Given the description of an element on the screen output the (x, y) to click on. 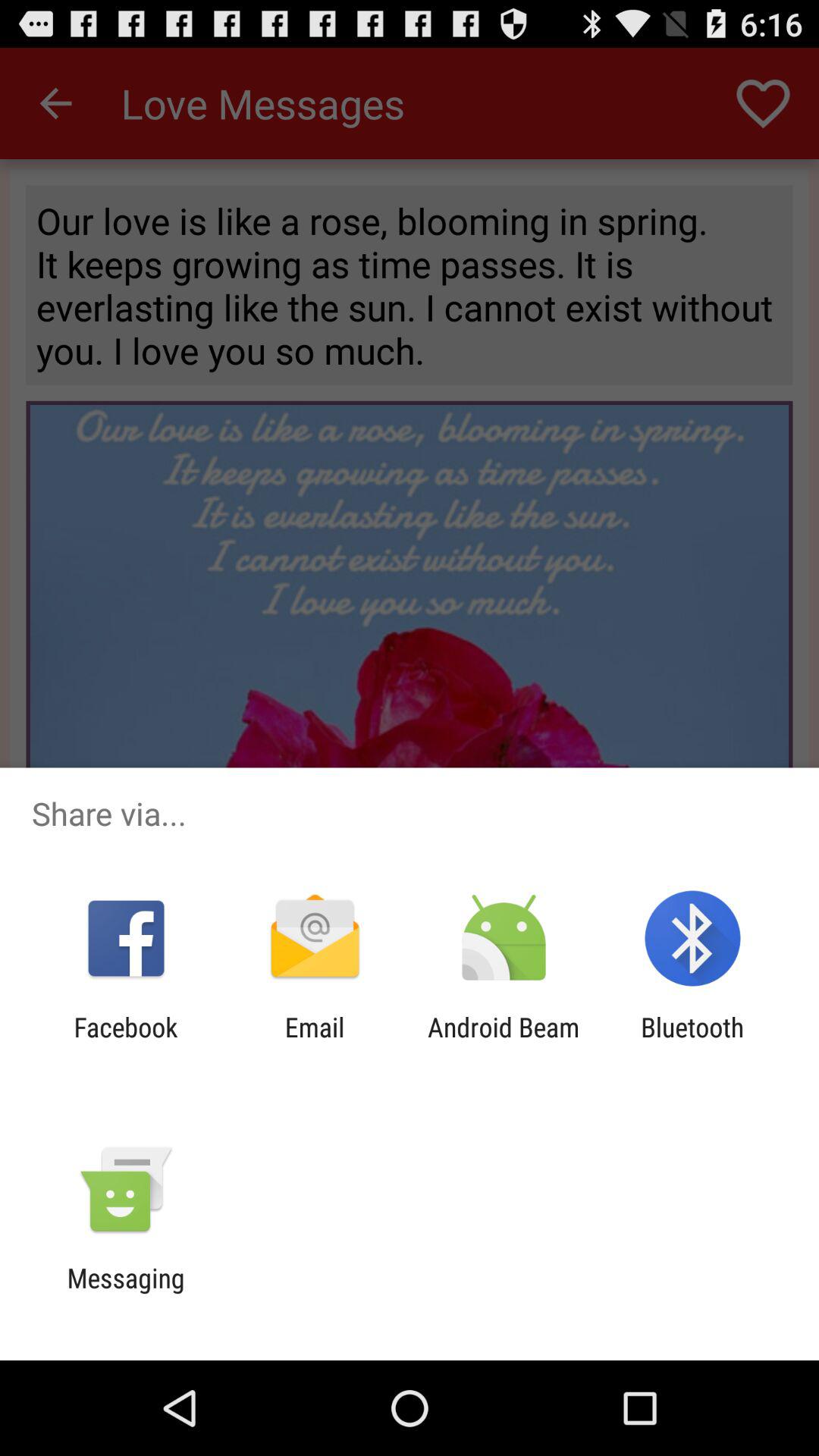
scroll until messaging (125, 1293)
